Given the description of an element on the screen output the (x, y) to click on. 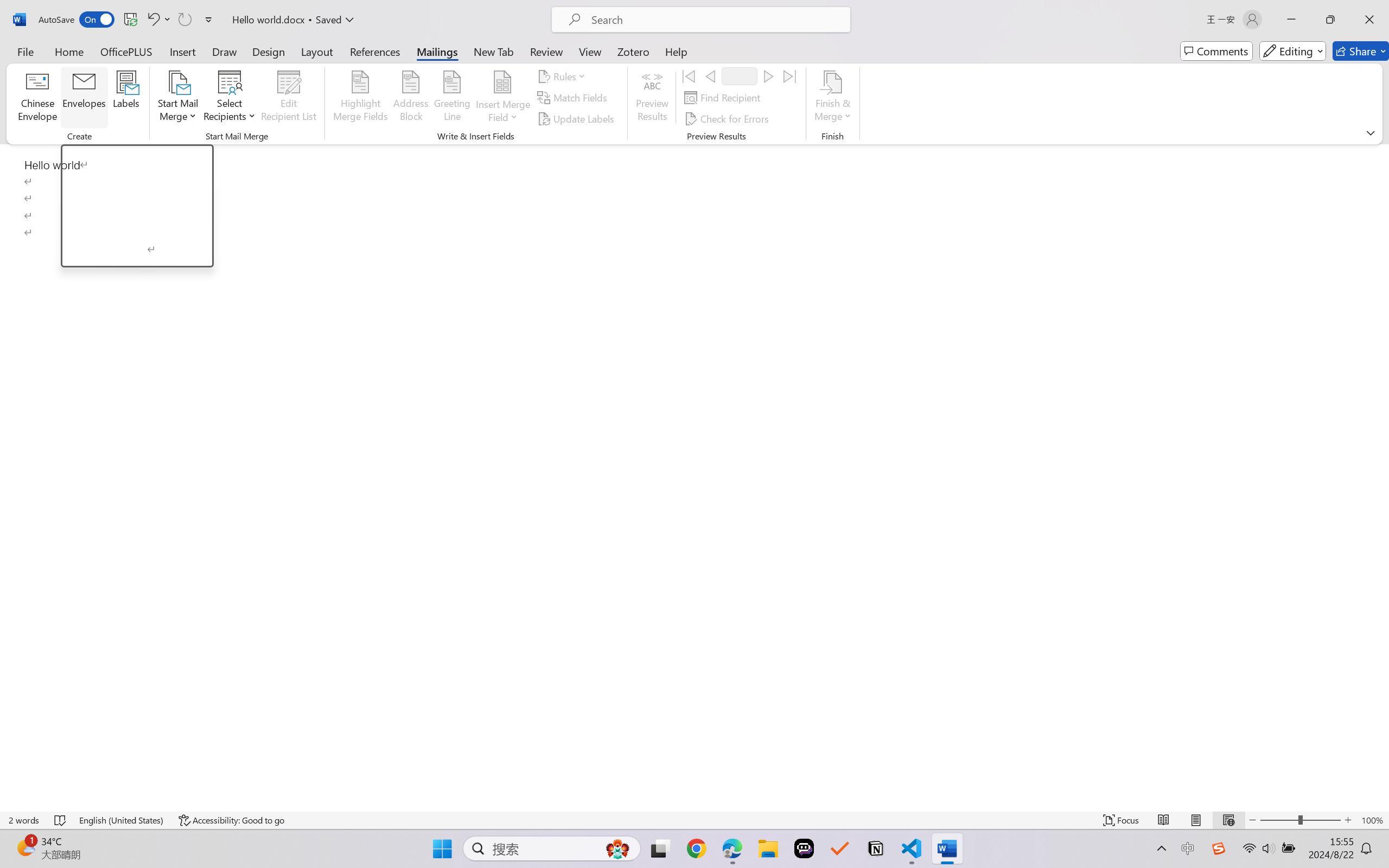
Spelling and Grammar Check No Errors (60, 819)
Chinese Envelope... (37, 97)
Share (1360, 51)
AutomationID: BadgeAnchorLargeTicker (24, 847)
Editing (1292, 50)
Design (268, 51)
File Tab (24, 51)
Check for Errors... (728, 118)
Find Recipient... (723, 97)
Labels... (126, 97)
Home (69, 51)
Update Labels (576, 118)
Mailings (437, 51)
